Given the description of an element on the screen output the (x, y) to click on. 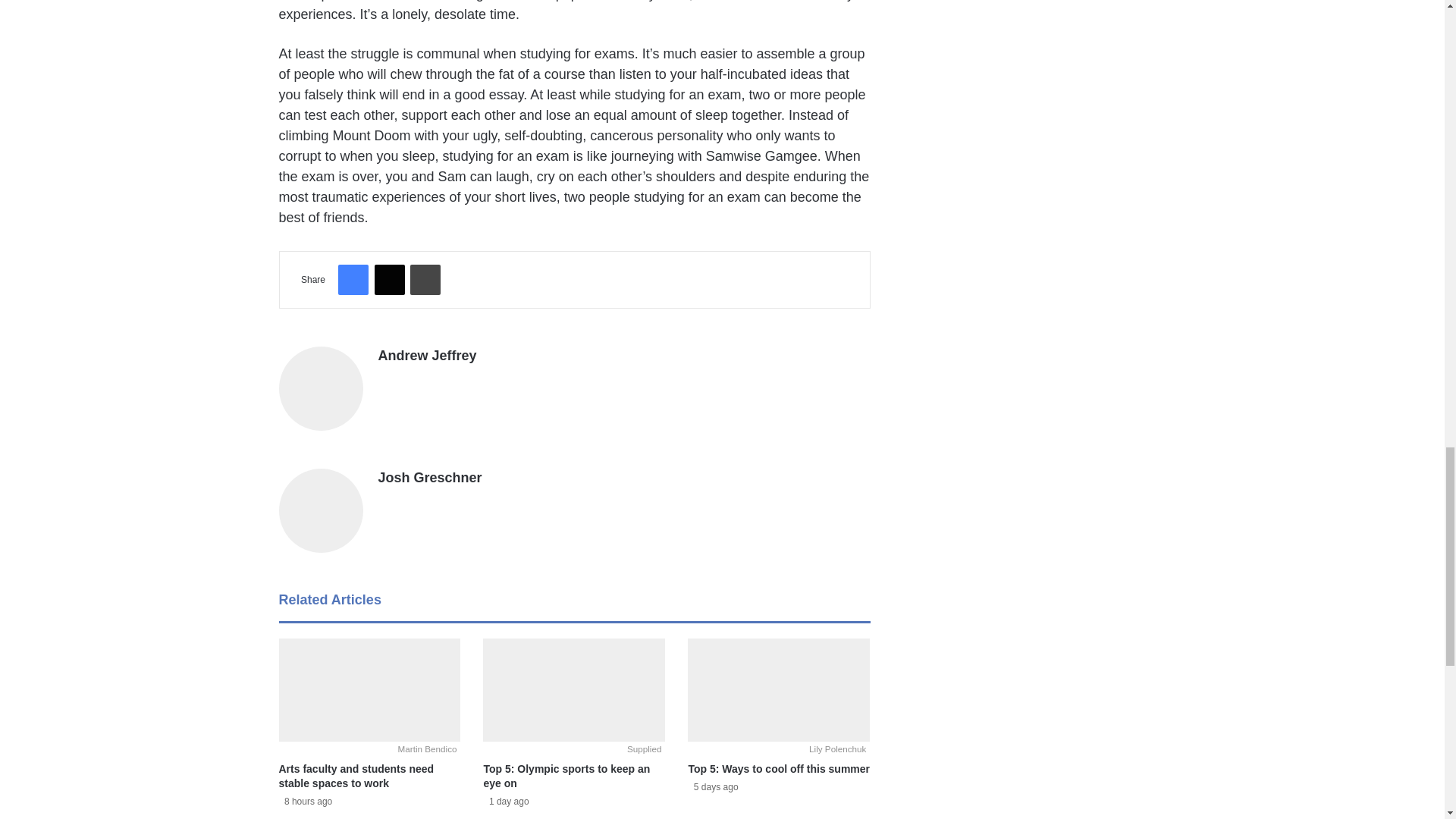
Print (425, 279)
X (389, 279)
Facebook (352, 279)
